Given the description of an element on the screen output the (x, y) to click on. 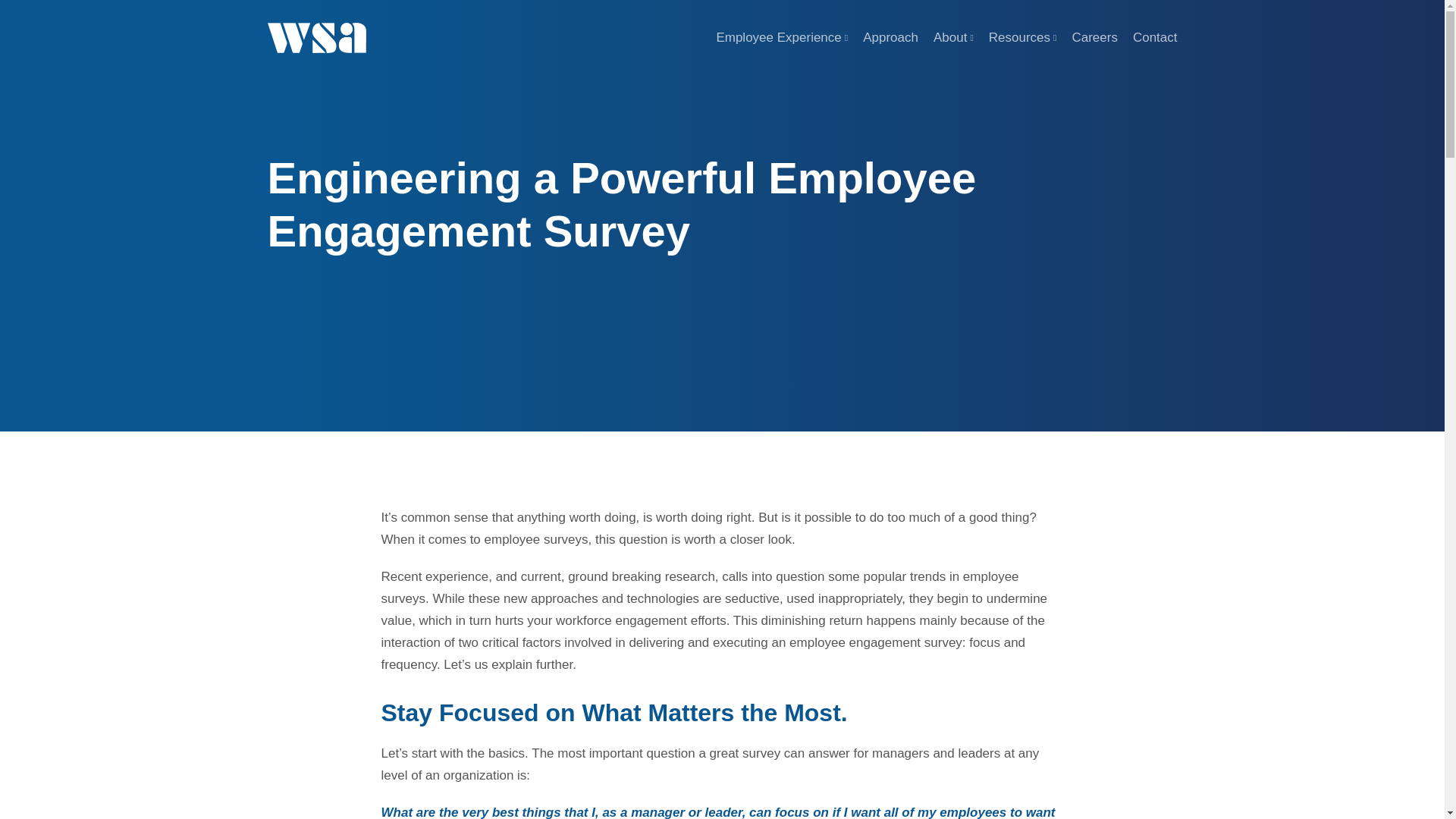
About (953, 37)
Approach (890, 37)
Resources (1022, 37)
Employee Experience (781, 37)
Careers (1093, 37)
Contact (1154, 37)
